Given the description of an element on the screen output the (x, y) to click on. 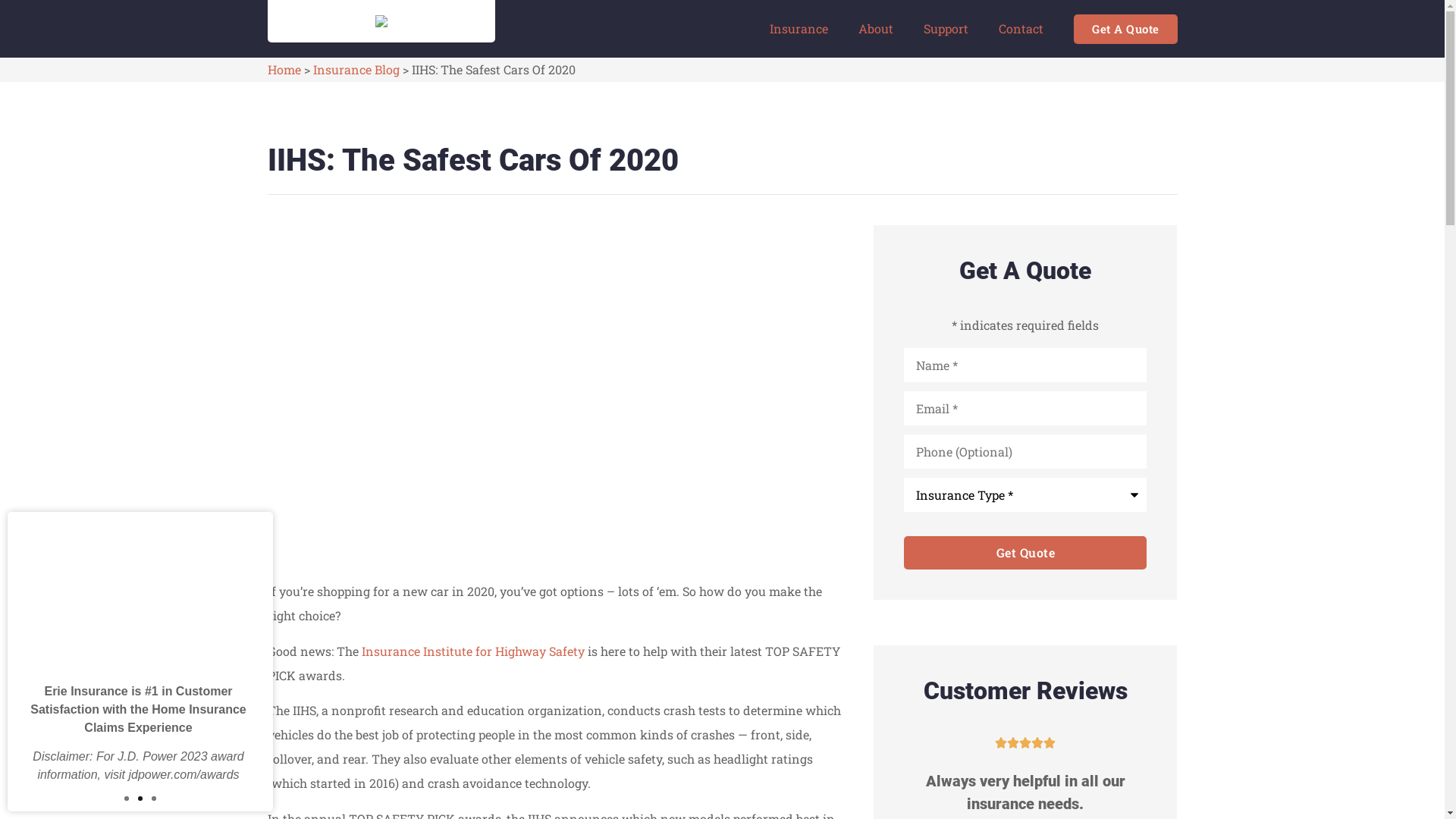
Insurance Institute for Highway Safety Element type: text (471, 650)
3 Element type: text (153, 798)
Contact Element type: text (1020, 28)
About Element type: text (875, 28)
Insurance Element type: text (798, 28)
Insurance Blog Element type: text (355, 69)
1 Element type: text (126, 798)
2 Element type: text (140, 798)
Home Element type: text (283, 69)
Support Element type: text (945, 28)
2-rivers-insurance-logo-horizontal Element type: hover (380, 21)
Get Quote Element type: text (1024, 552)
Get A Quote Element type: text (1125, 28)
car-shopping-large-1 Element type: hover (554, 387)
